Given the description of an element on the screen output the (x, y) to click on. 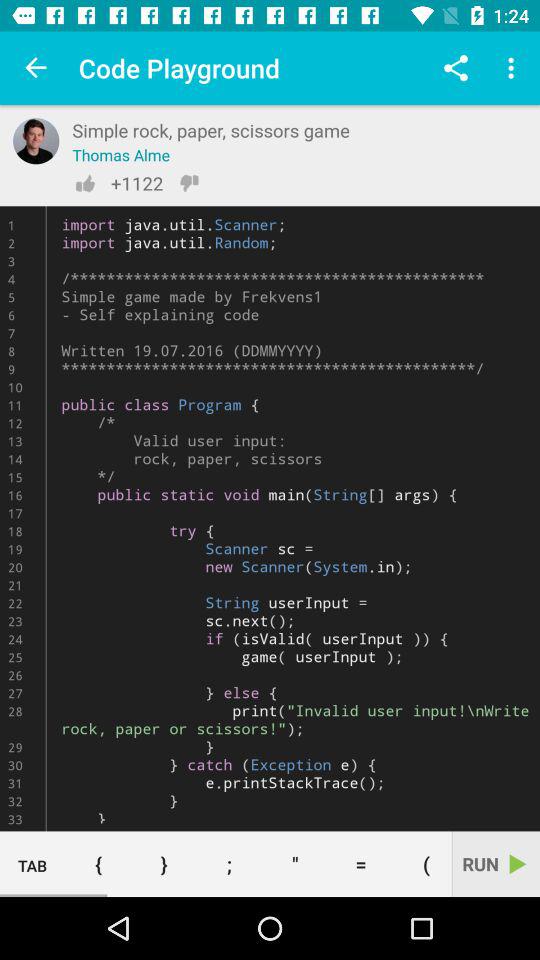
jump until the ; (229, 863)
